Given the description of an element on the screen output the (x, y) to click on. 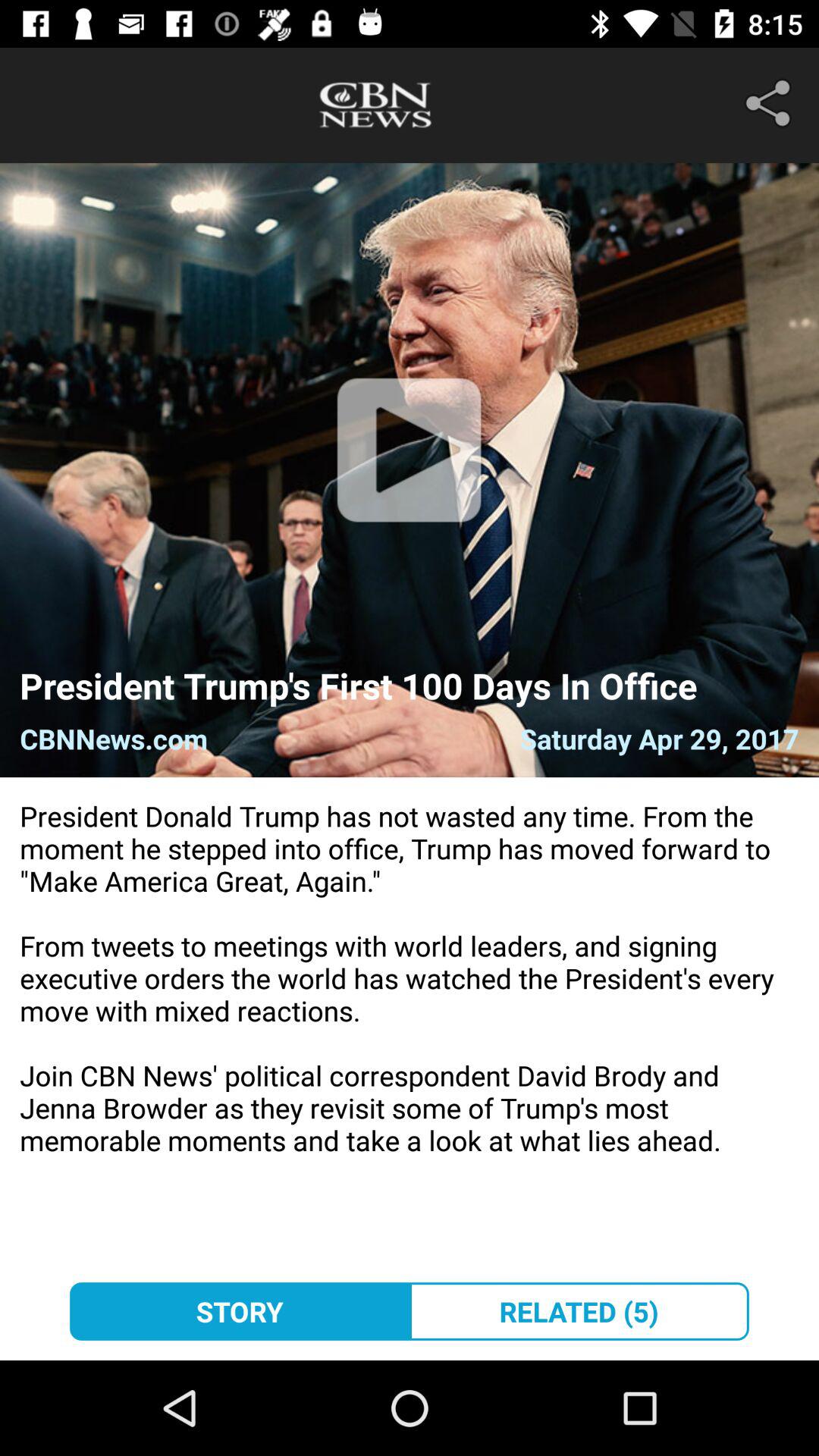
flip until the related (5) item (579, 1311)
